Given the description of an element on the screen output the (x, y) to click on. 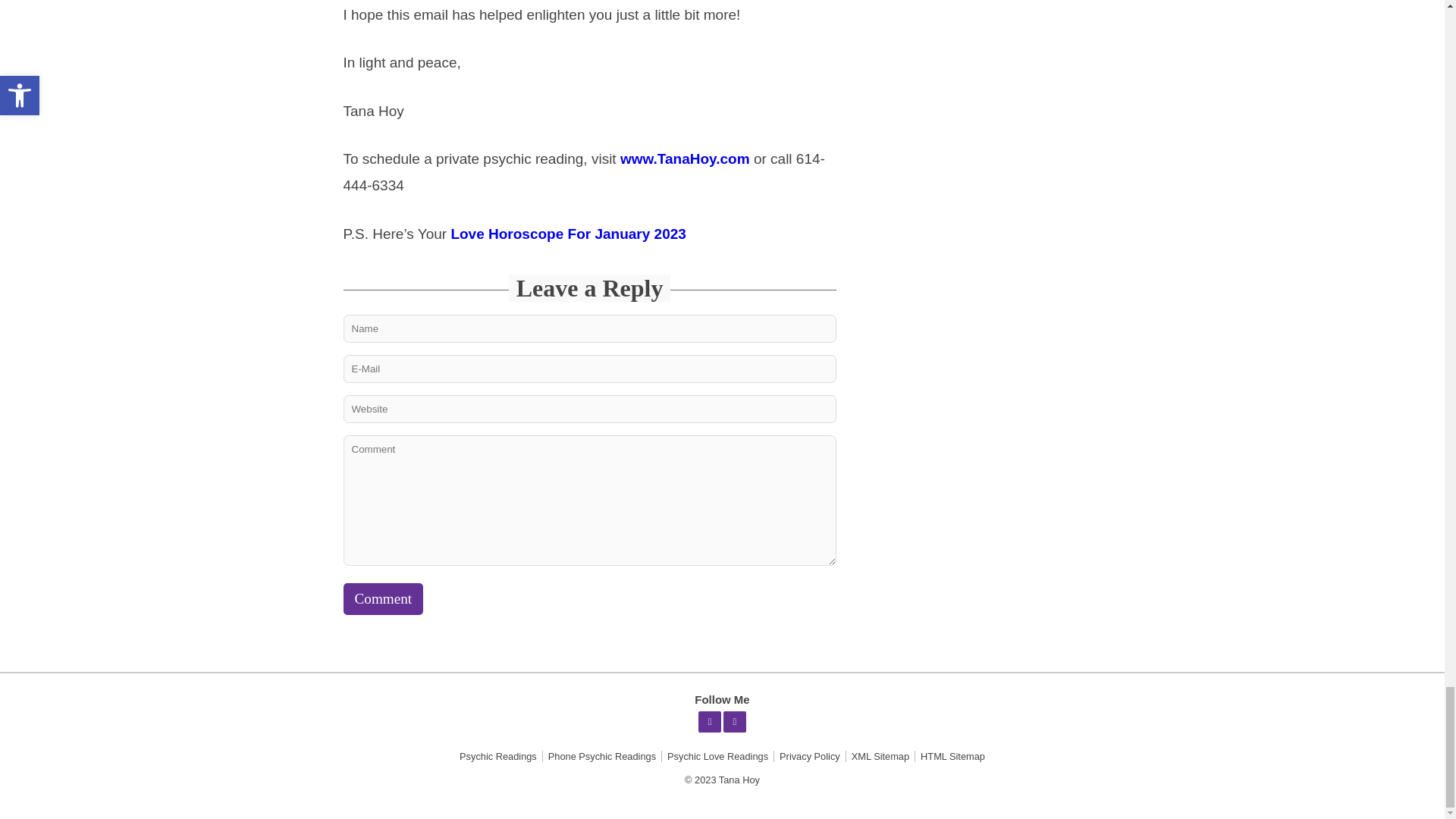
Comment (382, 599)
www.TanaHoy.com (684, 158)
Comment (382, 599)
Love Horoscope For January 2023 (567, 232)
